Given the description of an element on the screen output the (x, y) to click on. 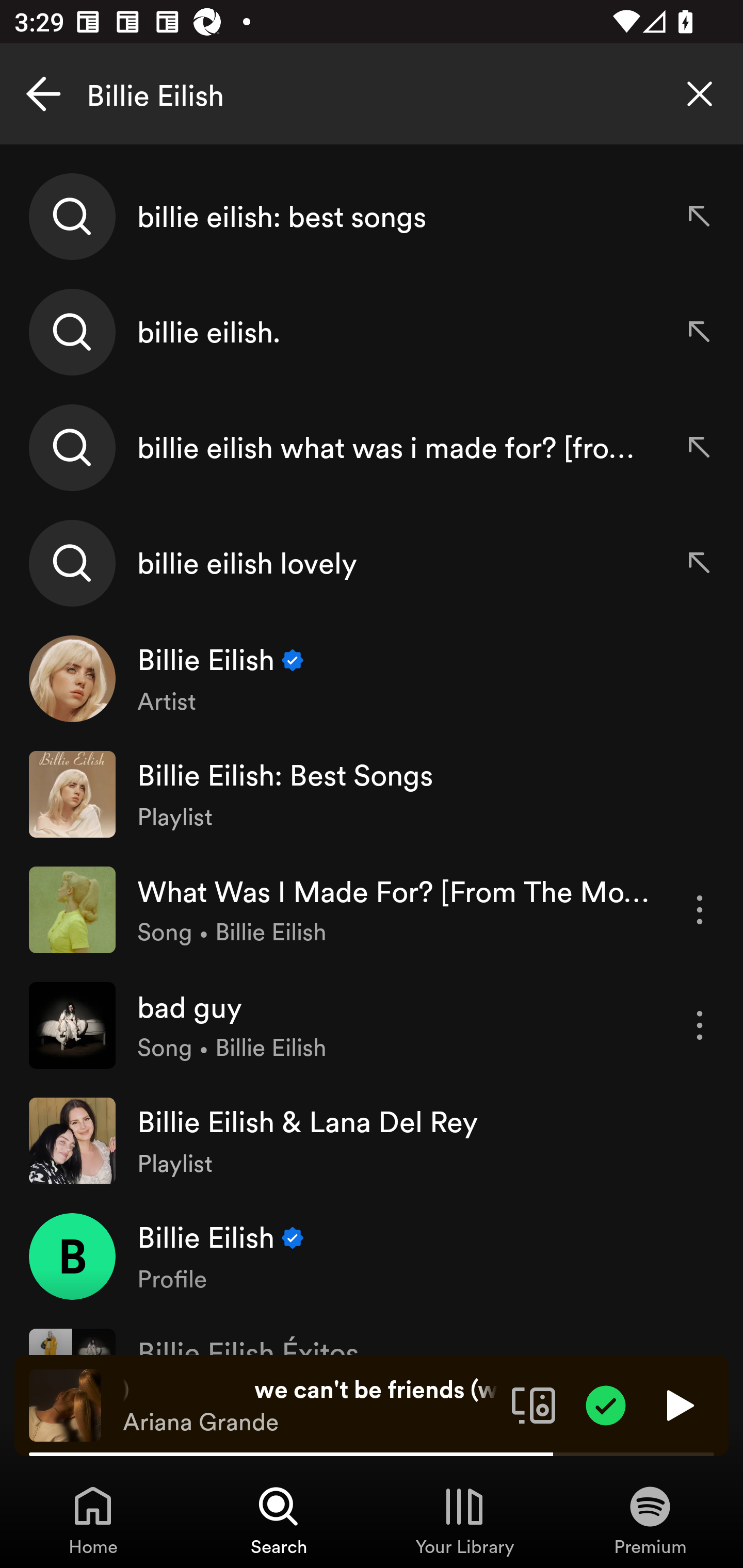
Billie Eilish (371, 93)
Cancel (43, 93)
Clear search query (699, 93)
billie eilish: best songs (371, 216)
billie eilish. (371, 332)
billie eilish lovely (371, 562)
Billie Eilish Verified Artist (371, 678)
Billie Eilish: Best Songs Playlist (371, 793)
More options for song bad guy (699, 1025)
Billie Eilish & Lana Del Rey Playlist (371, 1140)
Billie Eilish Verified Profile (371, 1255)
